Given the description of an element on the screen output the (x, y) to click on. 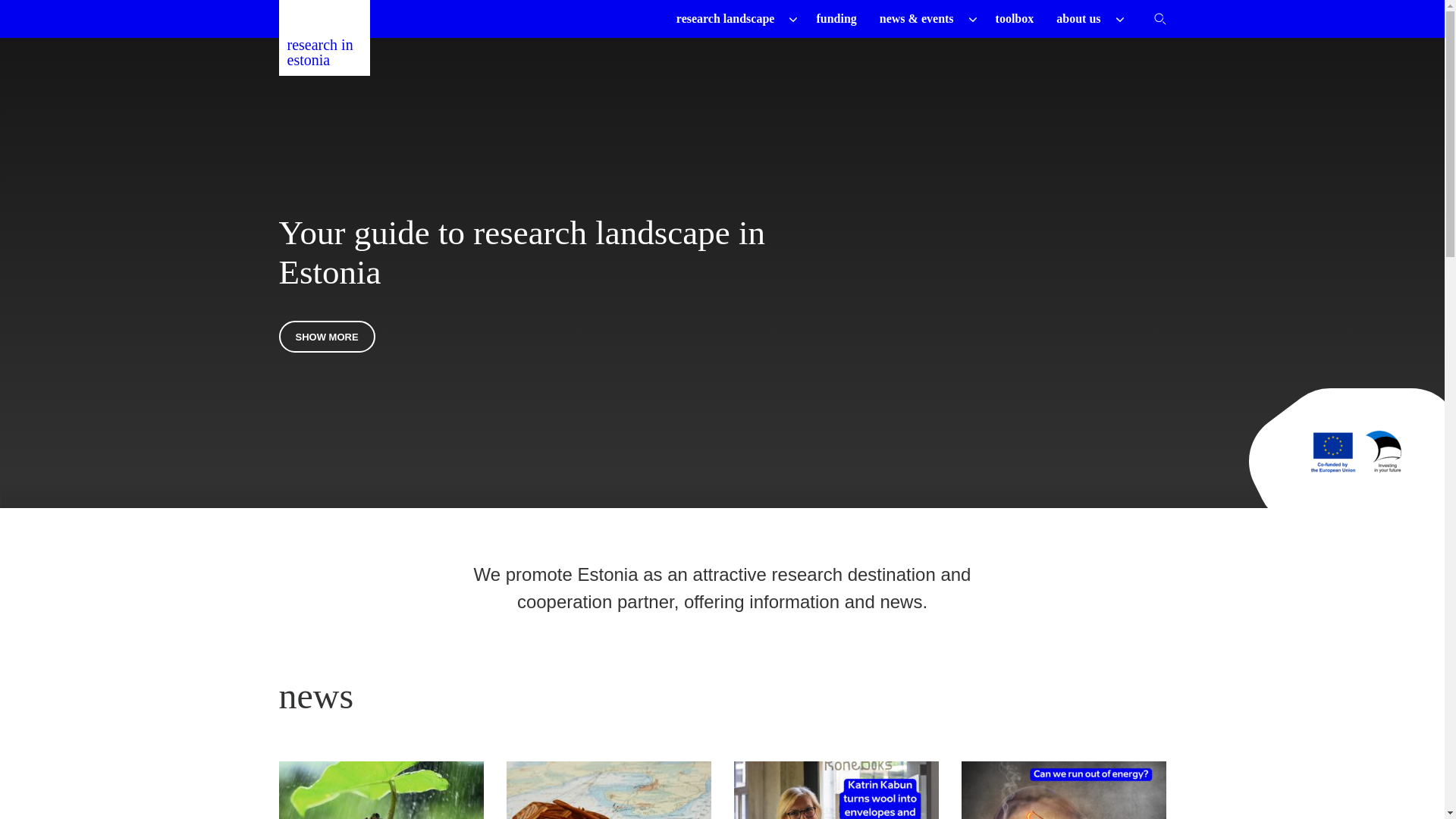
funding (835, 18)
toolbox (1014, 18)
research in estonia (324, 38)
about us (1078, 18)
SHOW MORE (327, 336)
research landscape (725, 18)
